Given the description of an element on the screen output the (x, y) to click on. 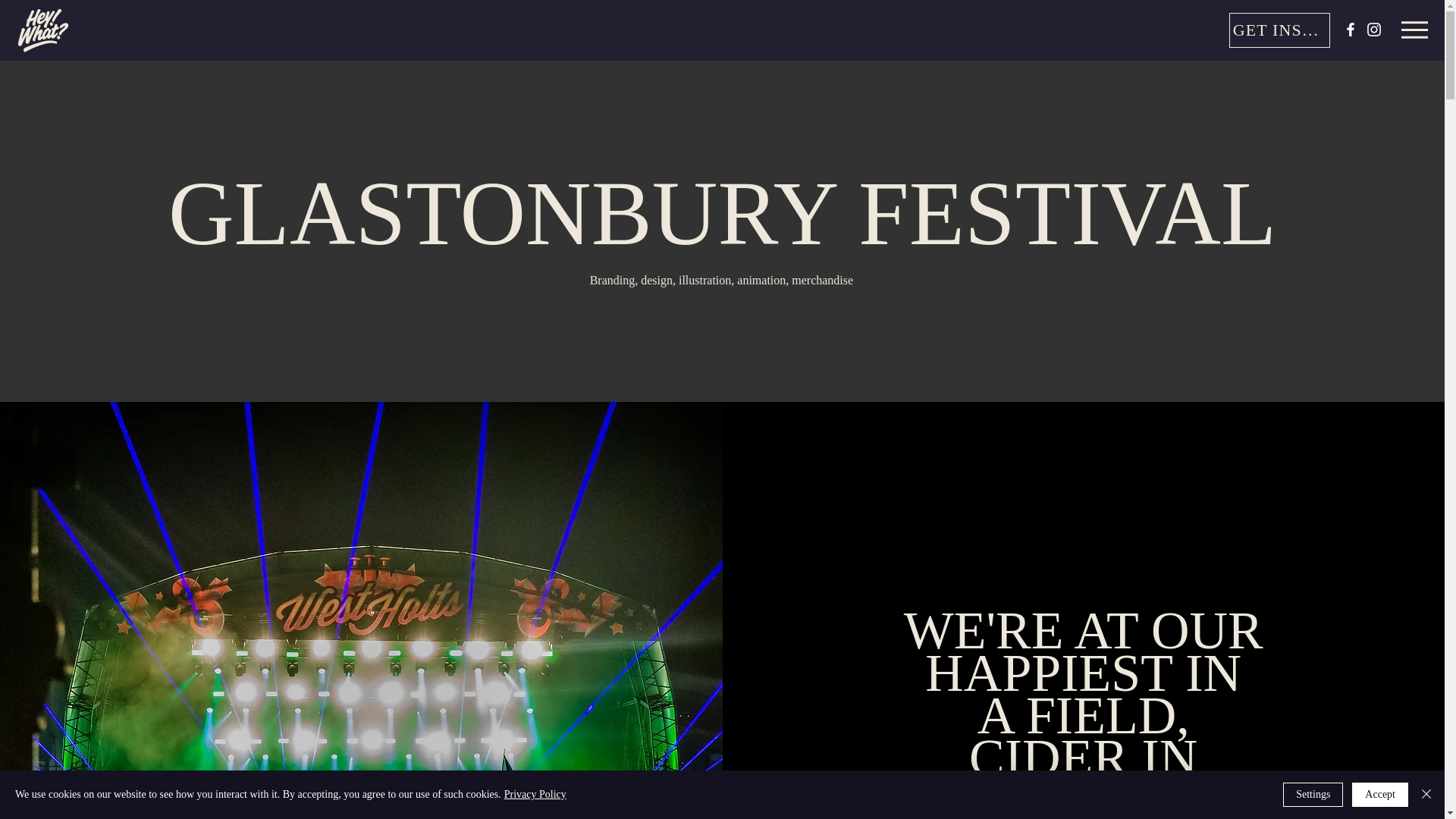
GET INSPIRED (1279, 30)
Accept (1379, 794)
Settings (1312, 794)
Privacy Policy (534, 794)
